Given the description of an element on the screen output the (x, y) to click on. 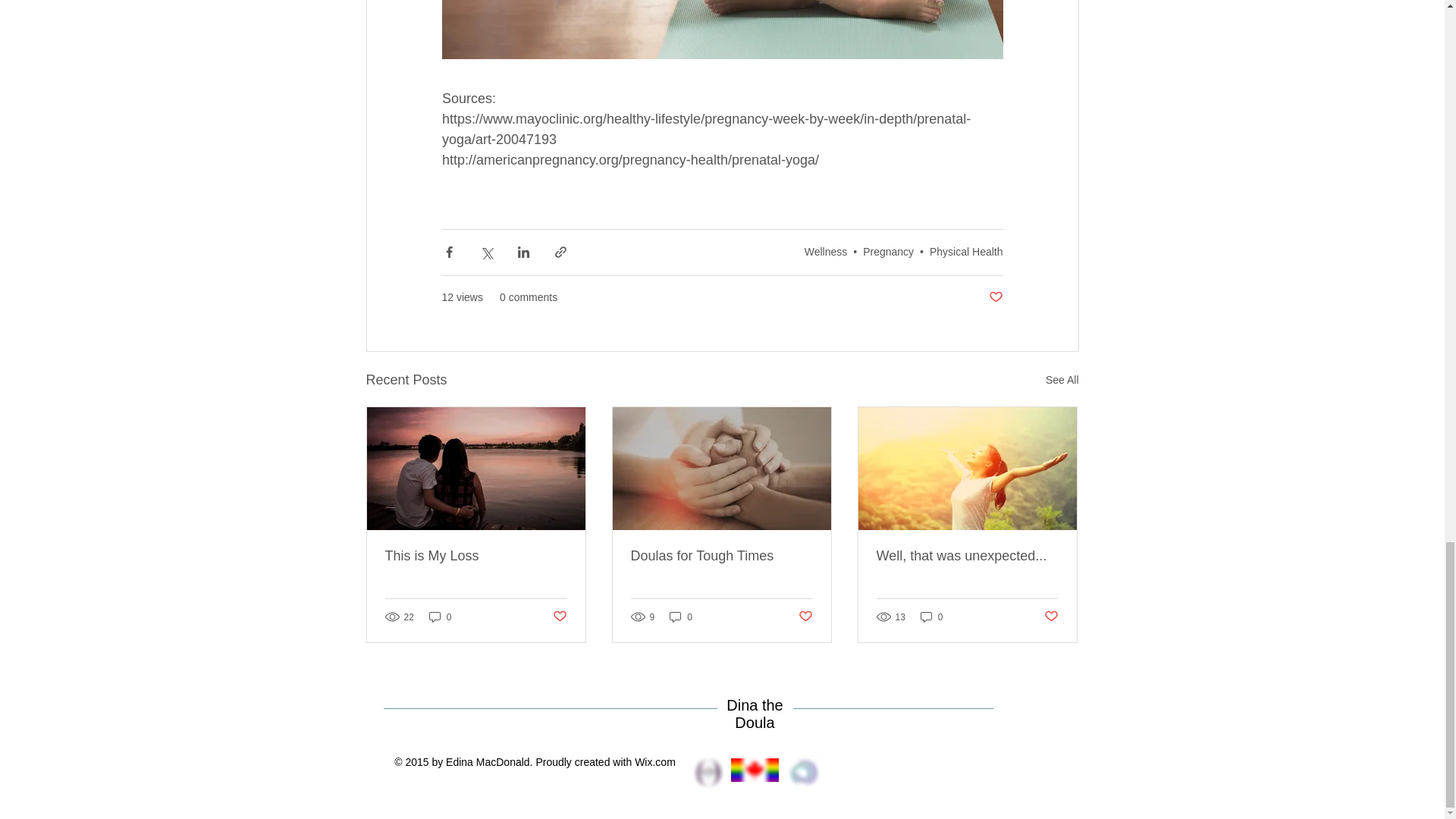
This is My Loss (476, 555)
0 (440, 616)
Physical Health (966, 251)
Wellness (826, 251)
Post not marked as liked (995, 297)
Pregnancy (888, 251)
See All (1061, 380)
